Given the description of an element on the screen output the (x, y) to click on. 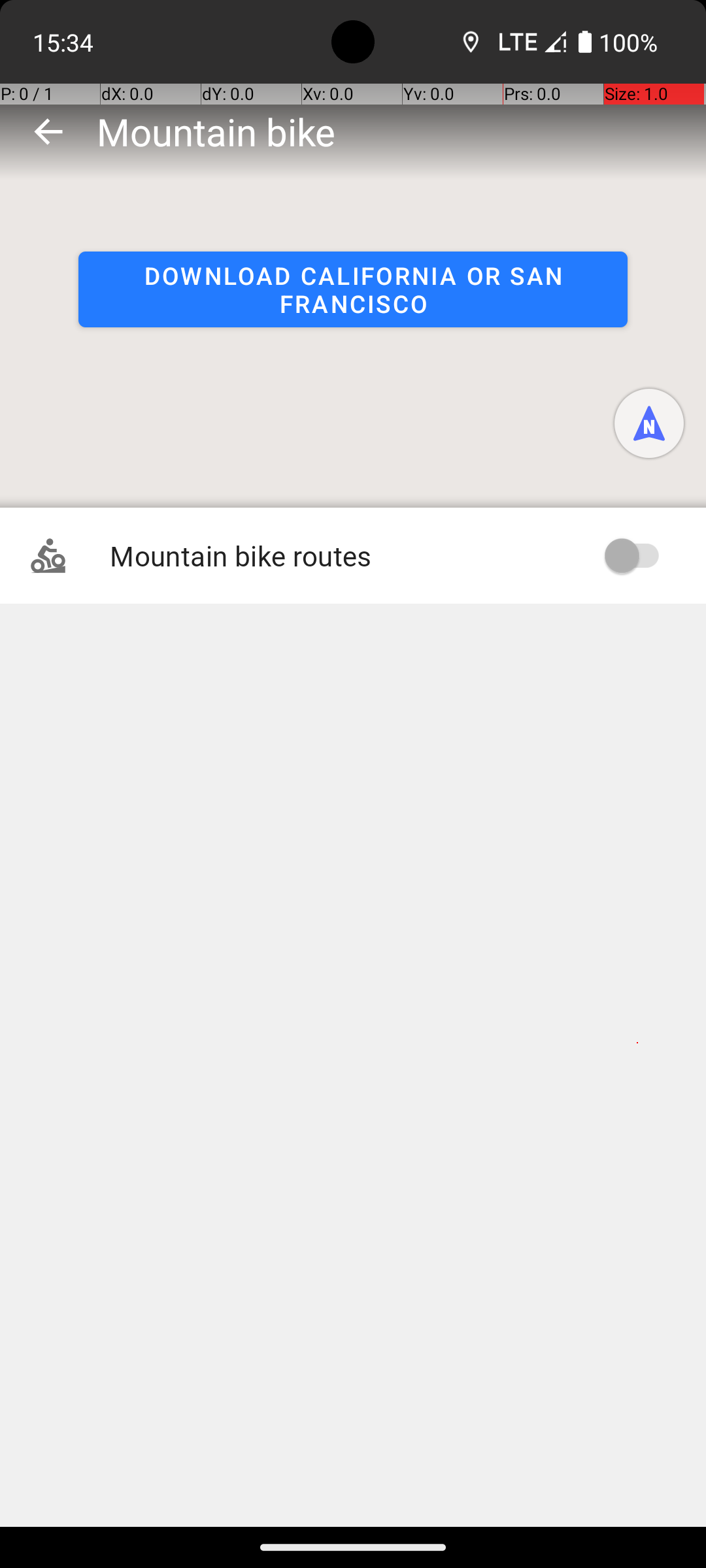
Back to map Element type: android.widget.ImageButton (48, 131)
Mountain bike Element type: android.widget.TextView (216, 130)
Movement direction Element type: android.widget.ImageButton (649, 423)
DOWNLOAD CALIFORNIA OR SAN FRANCISCO Element type: android.widget.Button (352, 289)
Mountain bike routes Element type: android.widget.TextView (338, 555)
